Given the description of an element on the screen output the (x, y) to click on. 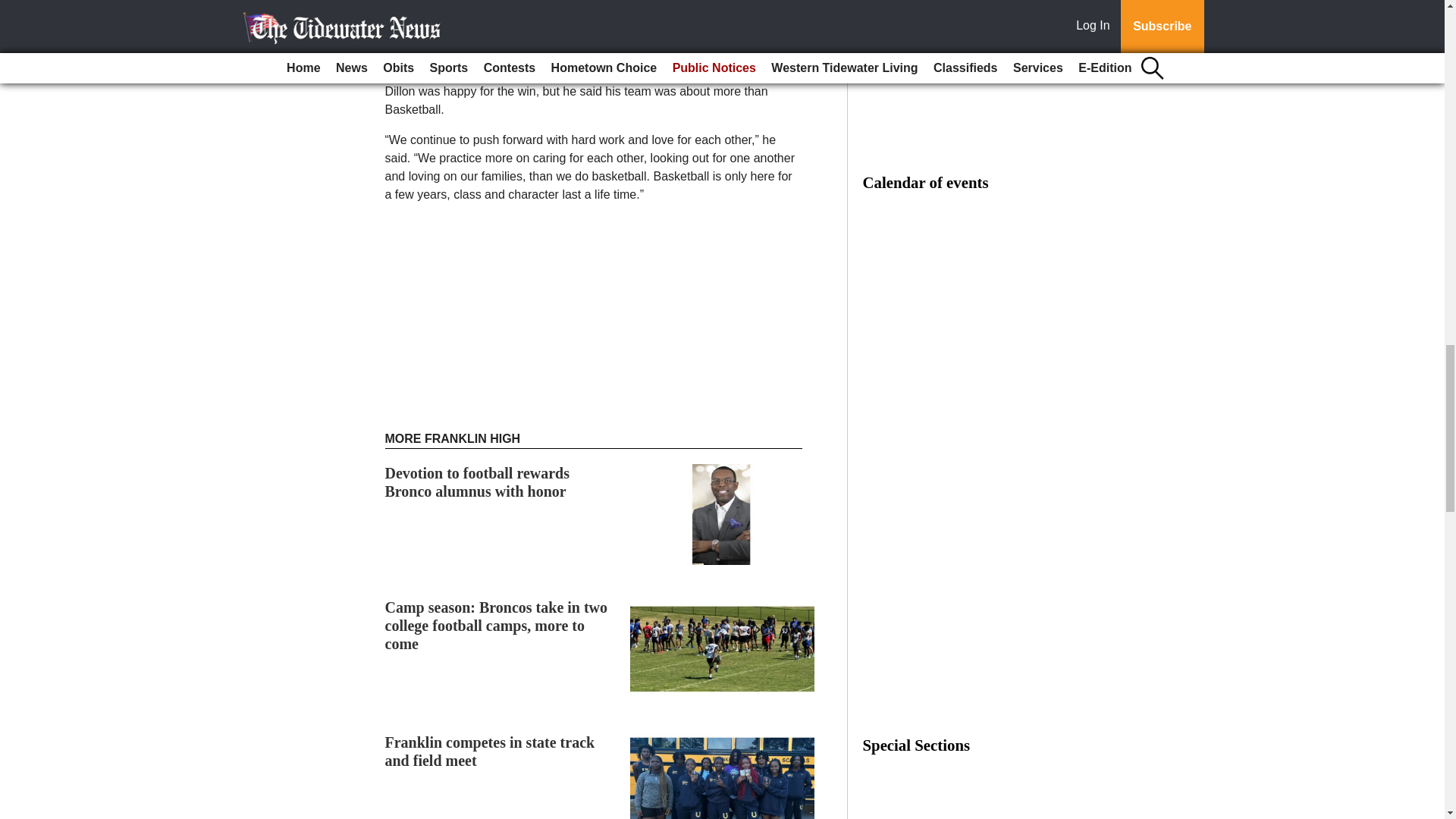
Franklin competes in state track and field meet (490, 751)
Devotion to football rewards Bronco alumnus with honor (477, 482)
Devotion to football rewards Bronco alumnus with honor (477, 482)
